Given the description of an element on the screen output the (x, y) to click on. 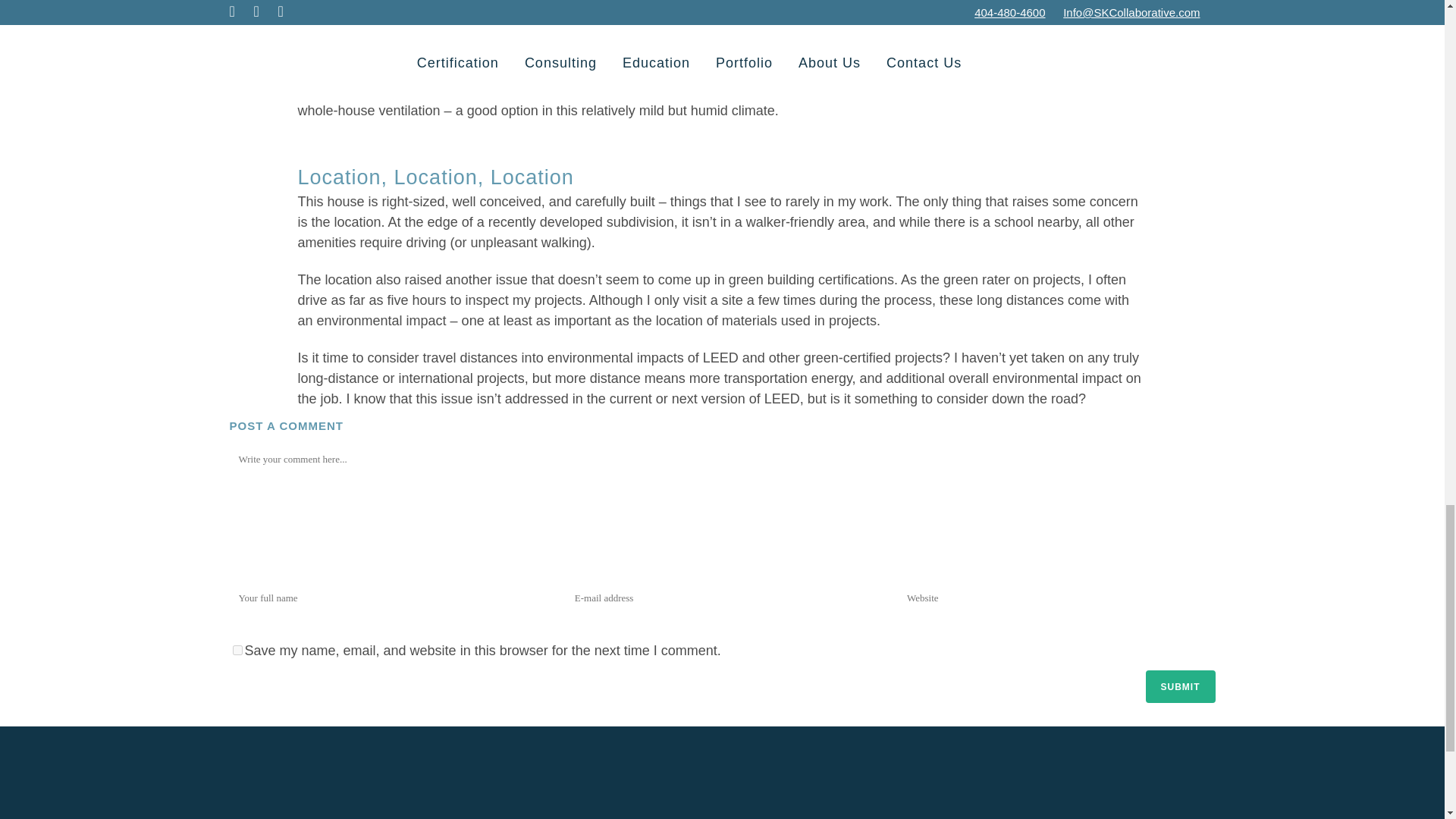
Submit (1179, 686)
yes (236, 650)
